Given the description of an element on the screen output the (x, y) to click on. 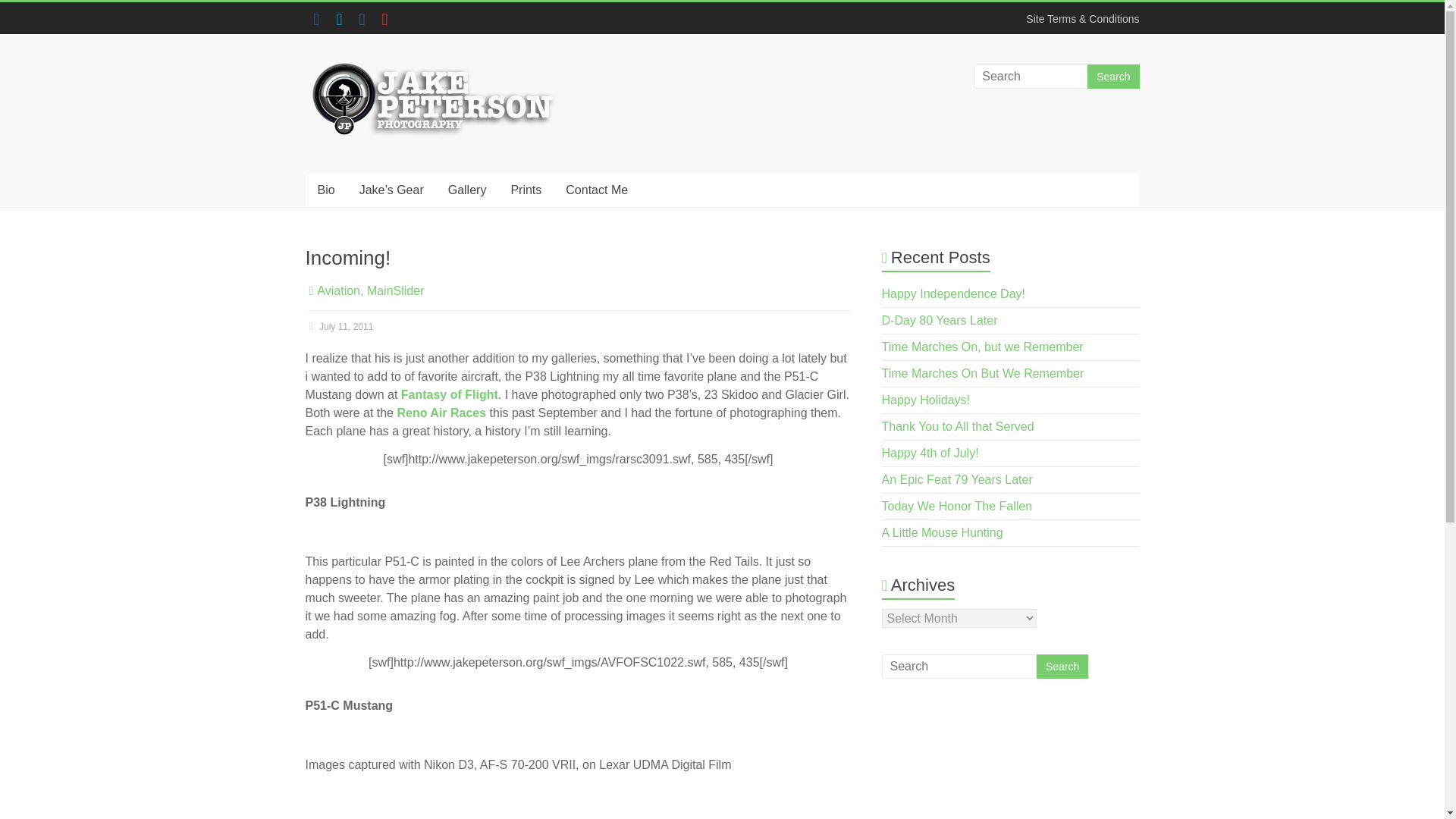
Search (1061, 666)
Time Marches On But We Remember (983, 373)
Thank You to All that Served (957, 426)
July 11, 2011 (338, 326)
4:00 am (338, 326)
Aviation (338, 290)
Search (1061, 666)
Happy Holidays! (926, 399)
Today We Honor The Fallen (957, 505)
Prints (525, 190)
Bio (325, 190)
Reno Air Races (441, 412)
Happy 4th of July! (930, 452)
A Little Mouse Hunting (942, 532)
